Given the description of an element on the screen output the (x, y) to click on. 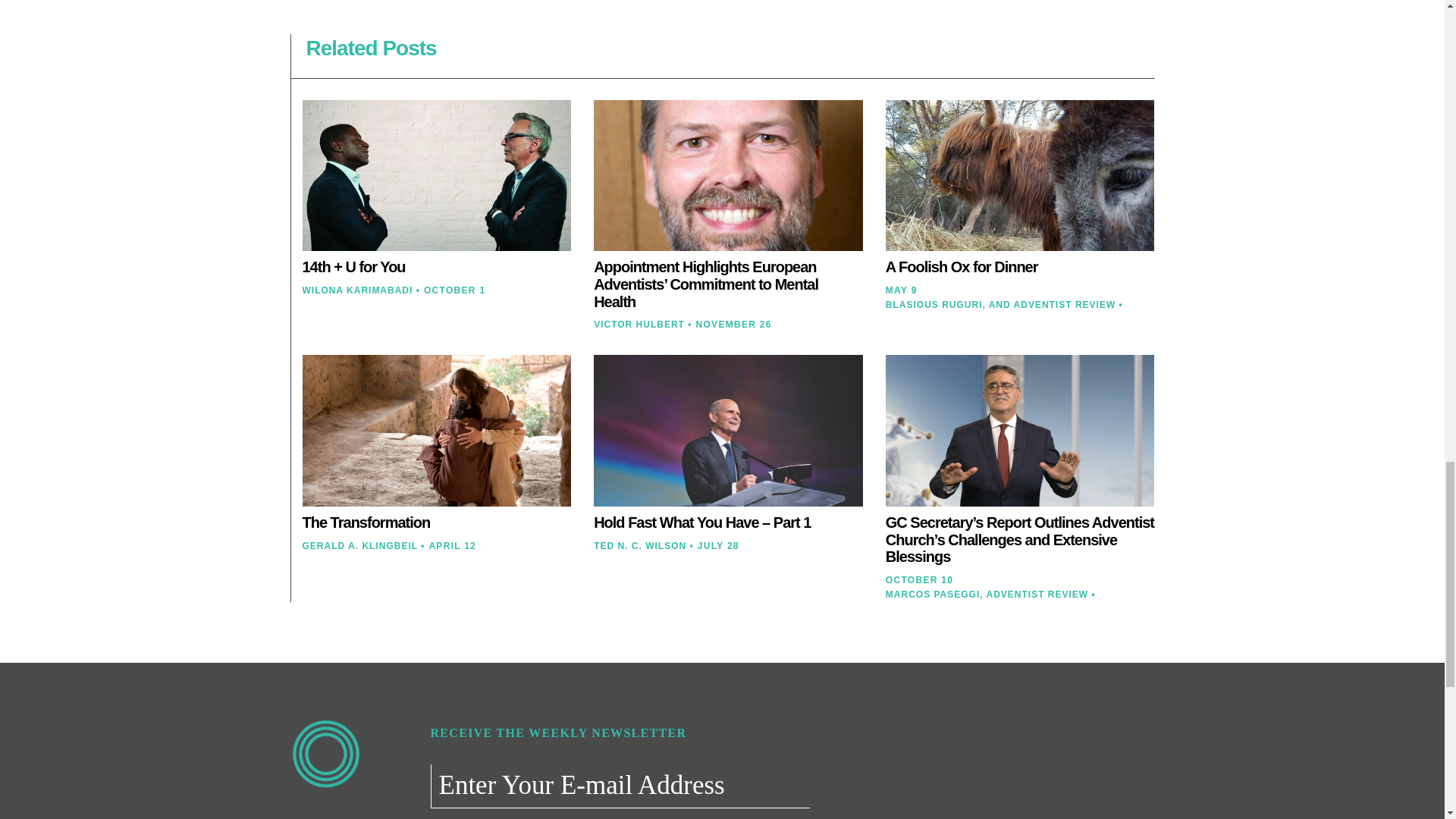
The Transformation (365, 522)
BLASIOUS RUGURI, AND ADVENTIST REVIEW (1000, 304)
A Foolish Ox for Dinner (961, 266)
TED N. C. WILSON (639, 545)
A Foolish Ox for Dinner (961, 266)
VICTOR HULBERT (639, 324)
The Transformation (365, 522)
WILONA KARIMABADI (356, 290)
GERALD A. KLINGBEIL (358, 545)
